Given the description of an element on the screen output the (x, y) to click on. 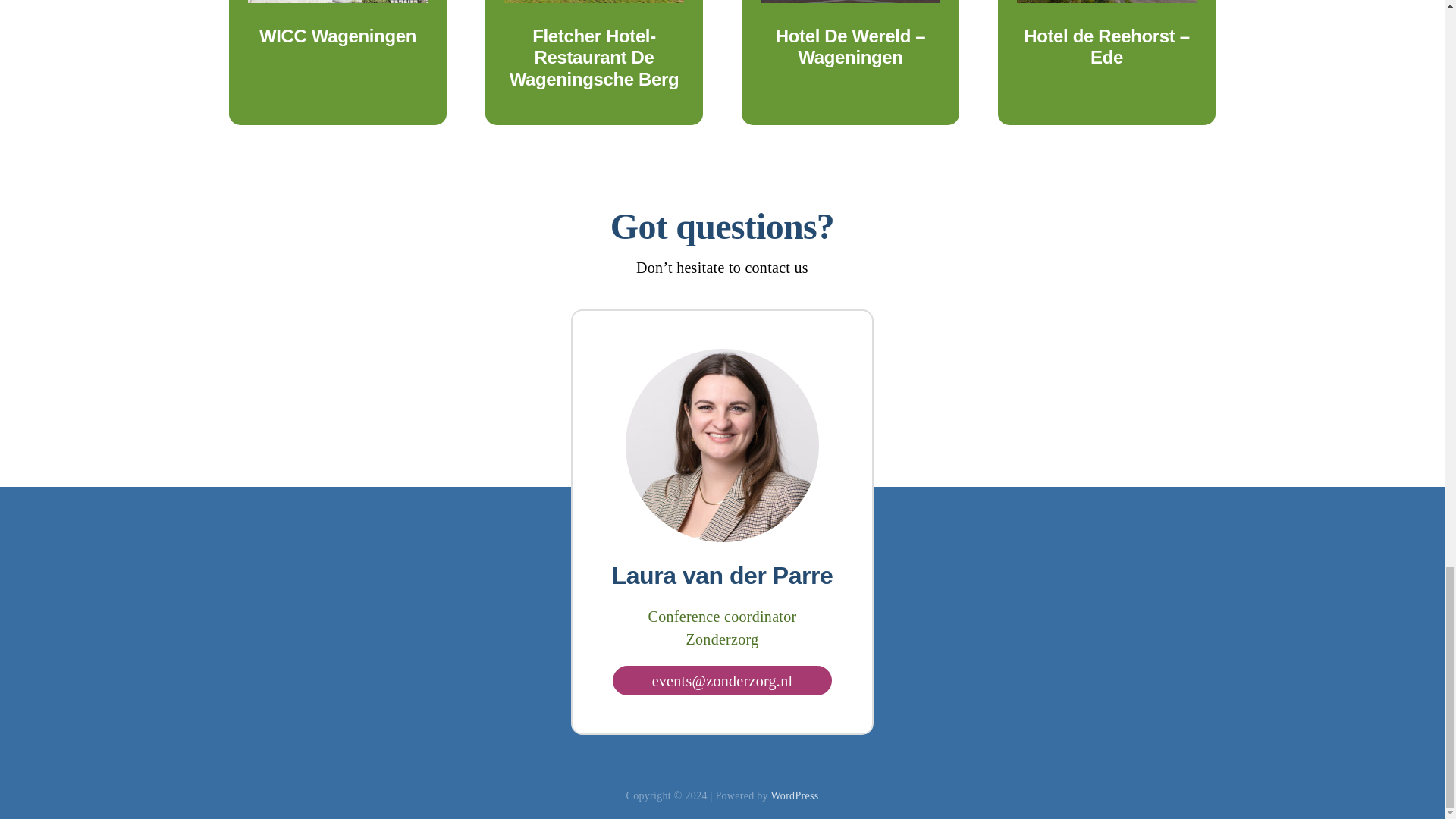
lauravanderparre (722, 445)
